Given the description of an element on the screen output the (x, y) to click on. 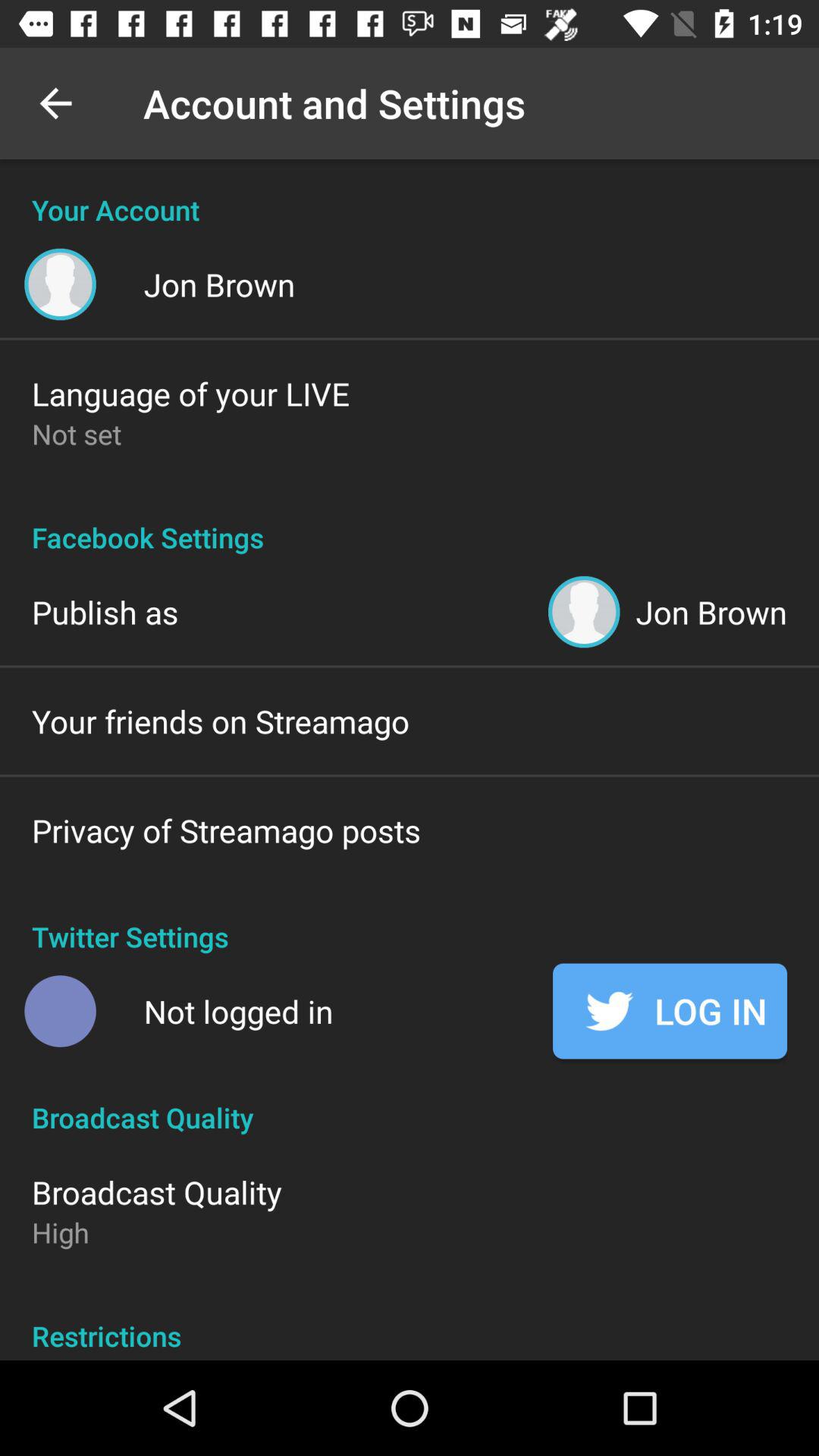
choose icon above the your friends on (104, 611)
